Given the description of an element on the screen output the (x, y) to click on. 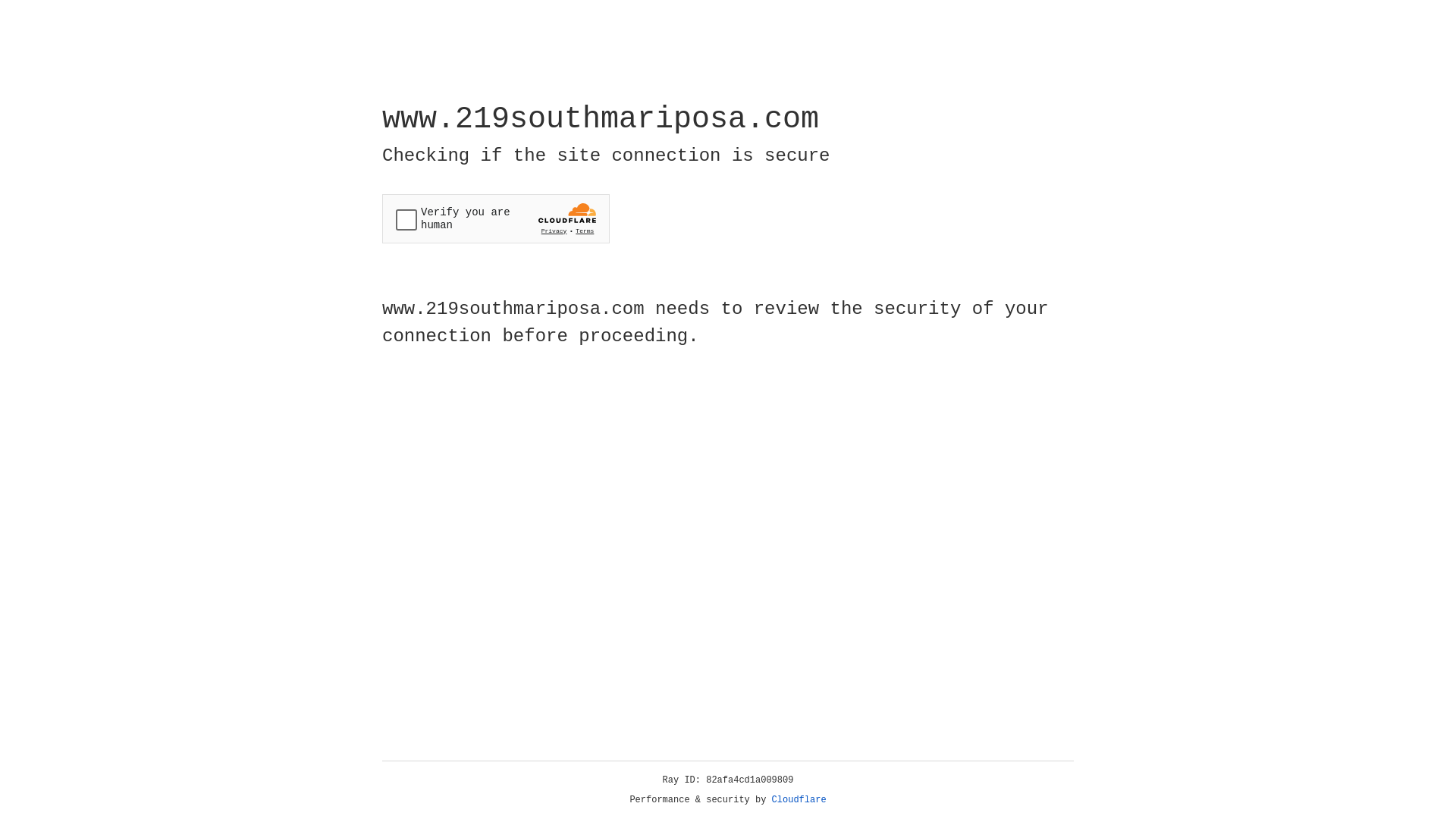
Widget containing a Cloudflare security challenge Element type: hover (495, 218)
Cloudflare Element type: text (798, 799)
